Given the description of an element on the screen output the (x, y) to click on. 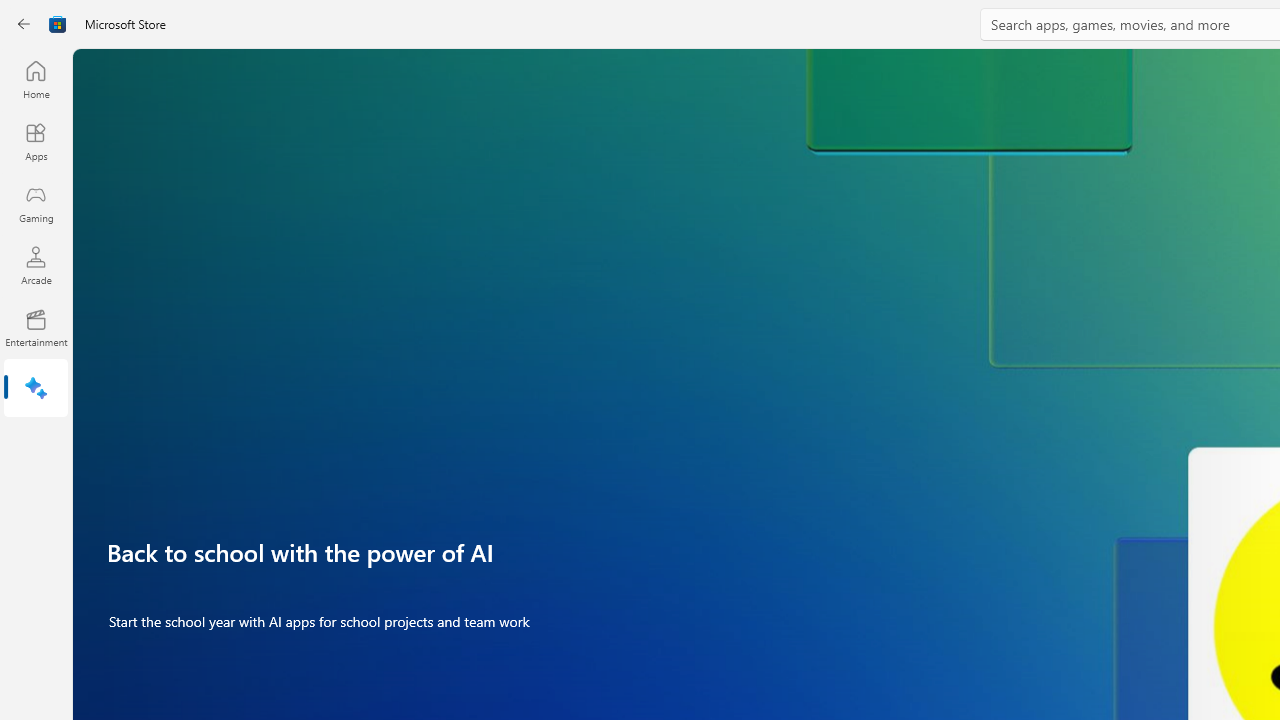
Back (24, 24)
